Given the description of an element on the screen output the (x, y) to click on. 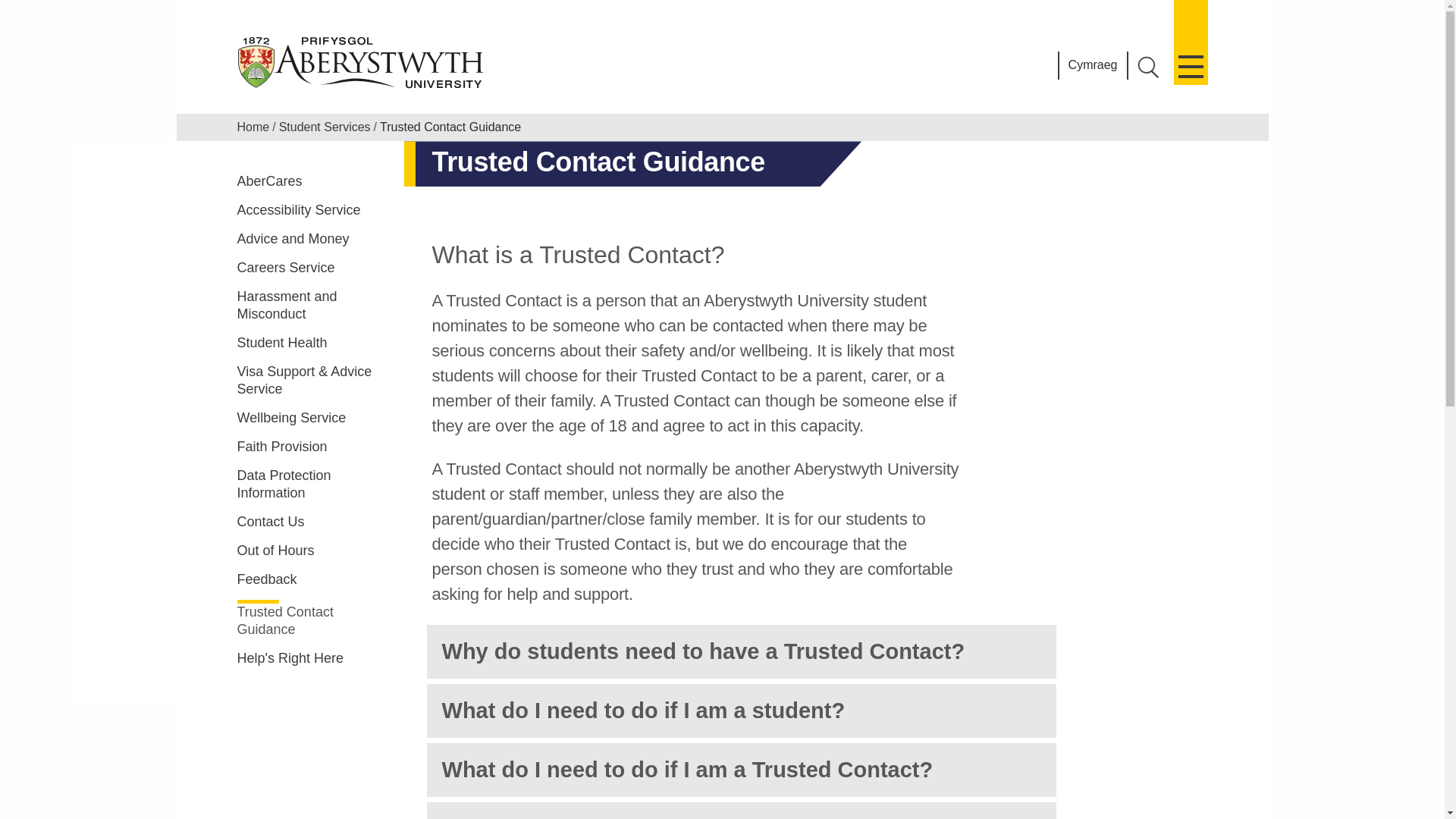
Aberystwyth University homepage (360, 62)
Search (1147, 66)
Newid iaith i Gymraeg (1093, 65)
